Given the description of an element on the screen output the (x, y) to click on. 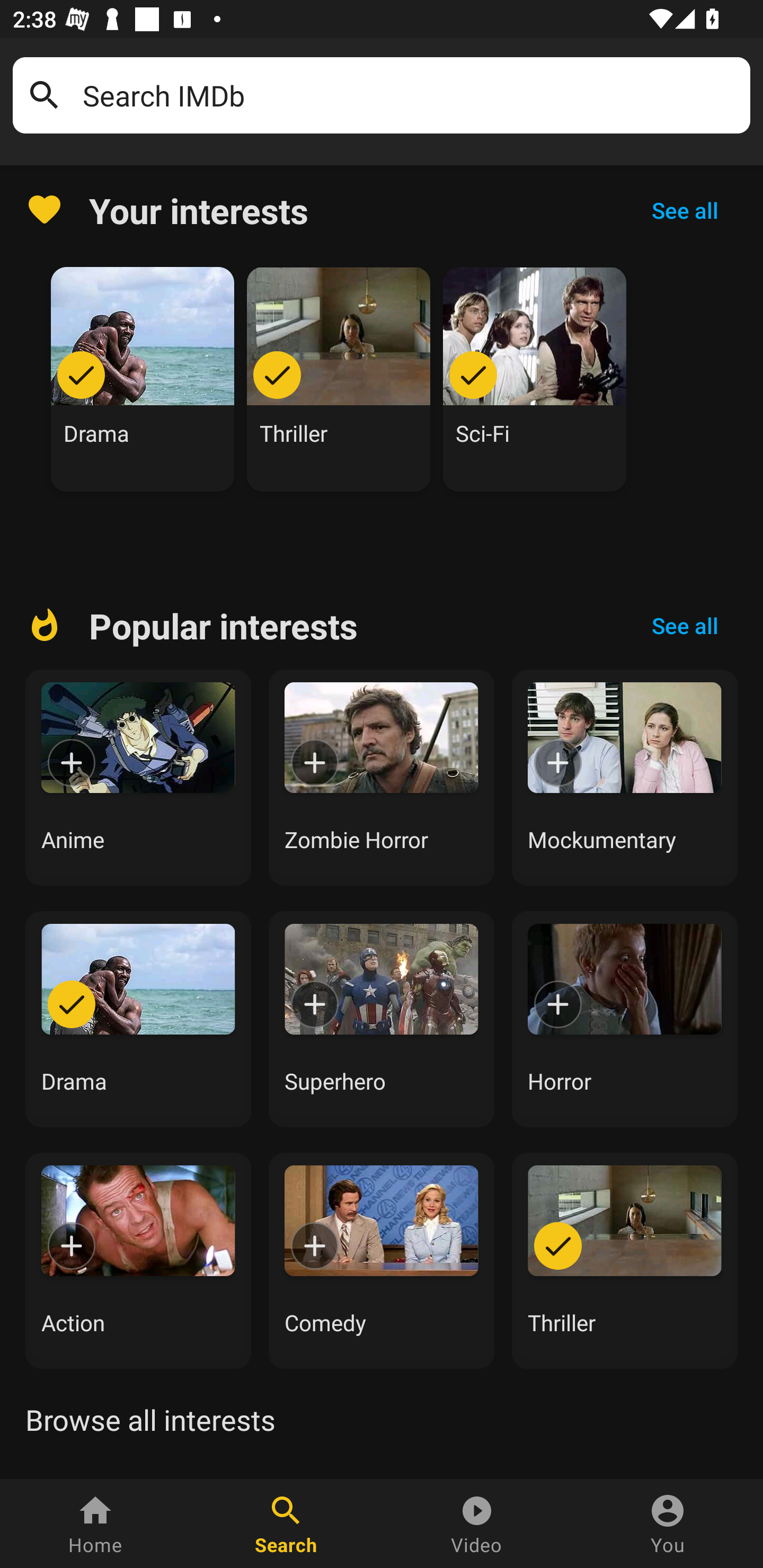
Search IMDb (410, 95)
See all (684, 209)
Drama (142, 379)
Thriller (338, 379)
Sci-Fi (534, 379)
See all (684, 625)
Anime (138, 777)
Zombie Horror (381, 777)
Mockumentary (624, 777)
Drama (138, 1018)
Superhero (381, 1018)
Horror (624, 1018)
Action (138, 1260)
Comedy (381, 1260)
Thriller (624, 1260)
Browse all interests (150, 1419)
Home (95, 1523)
Video (476, 1523)
You (667, 1523)
